Given the description of an element on the screen output the (x, y) to click on. 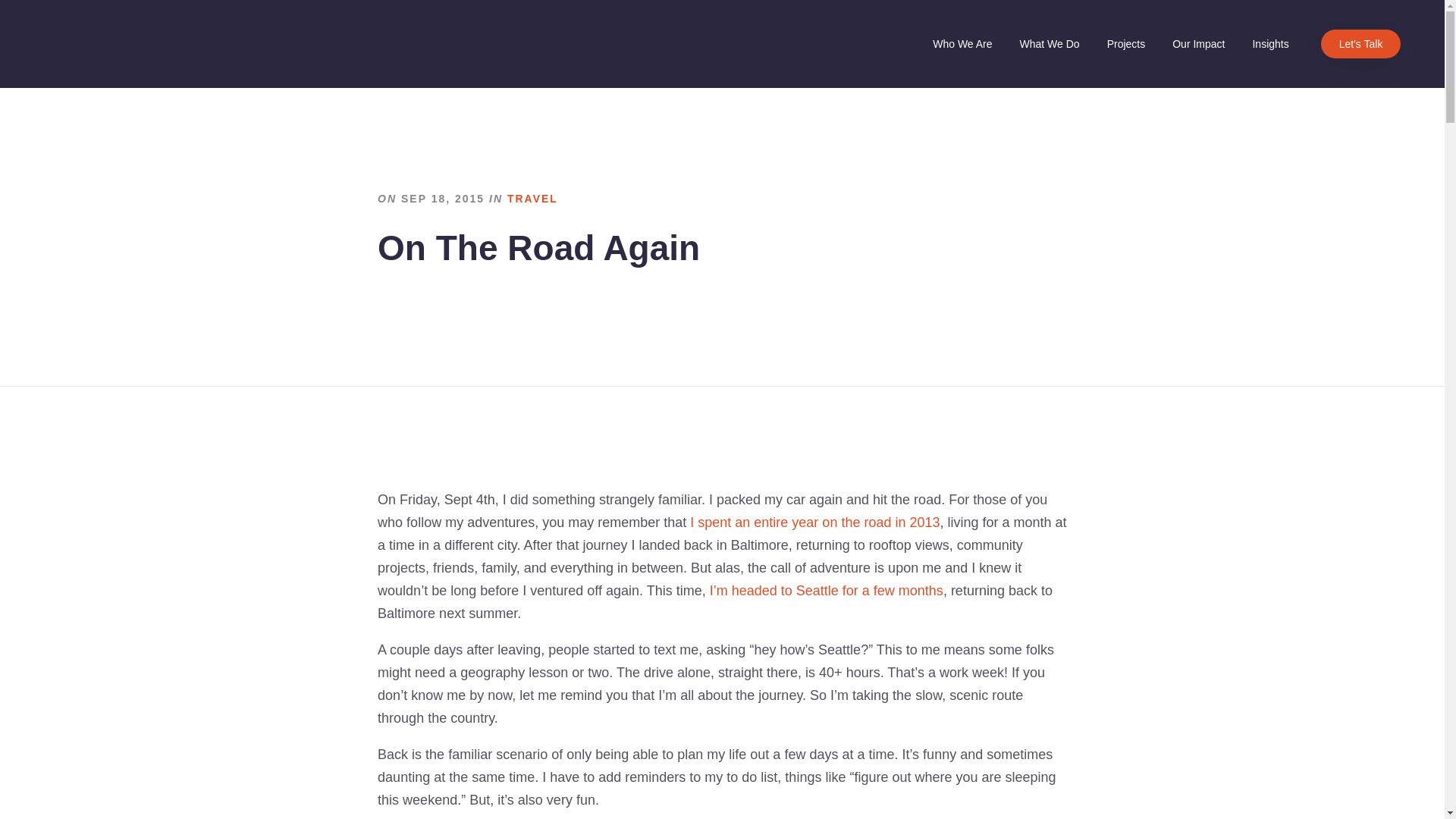
I spent an entire year on the road in 2013 (814, 522)
Let's Talk (1360, 43)
TRAVEL (531, 198)
